Given the description of an element on the screen output the (x, y) to click on. 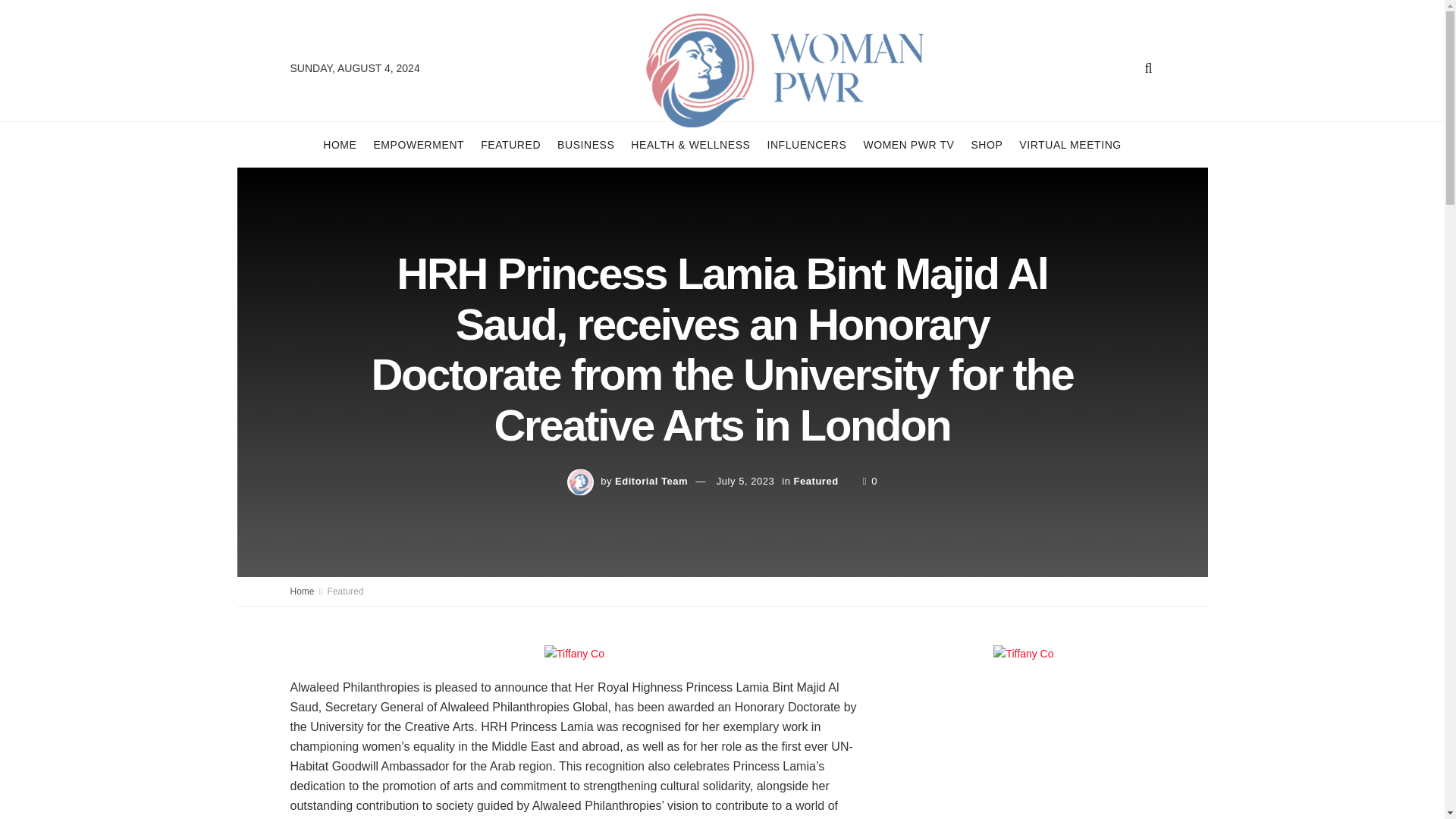
0 (870, 480)
Editorial Team (650, 480)
July 5, 2023 (745, 480)
BUSINESS (585, 144)
Featured (345, 591)
VIRTUAL MEETING (1070, 144)
Home (301, 591)
EMPOWERMENT (418, 144)
INFLUENCERS (806, 144)
WOMEN PWR TV (908, 144)
Featured (815, 480)
FEATURED (510, 144)
